Given the description of an element on the screen output the (x, y) to click on. 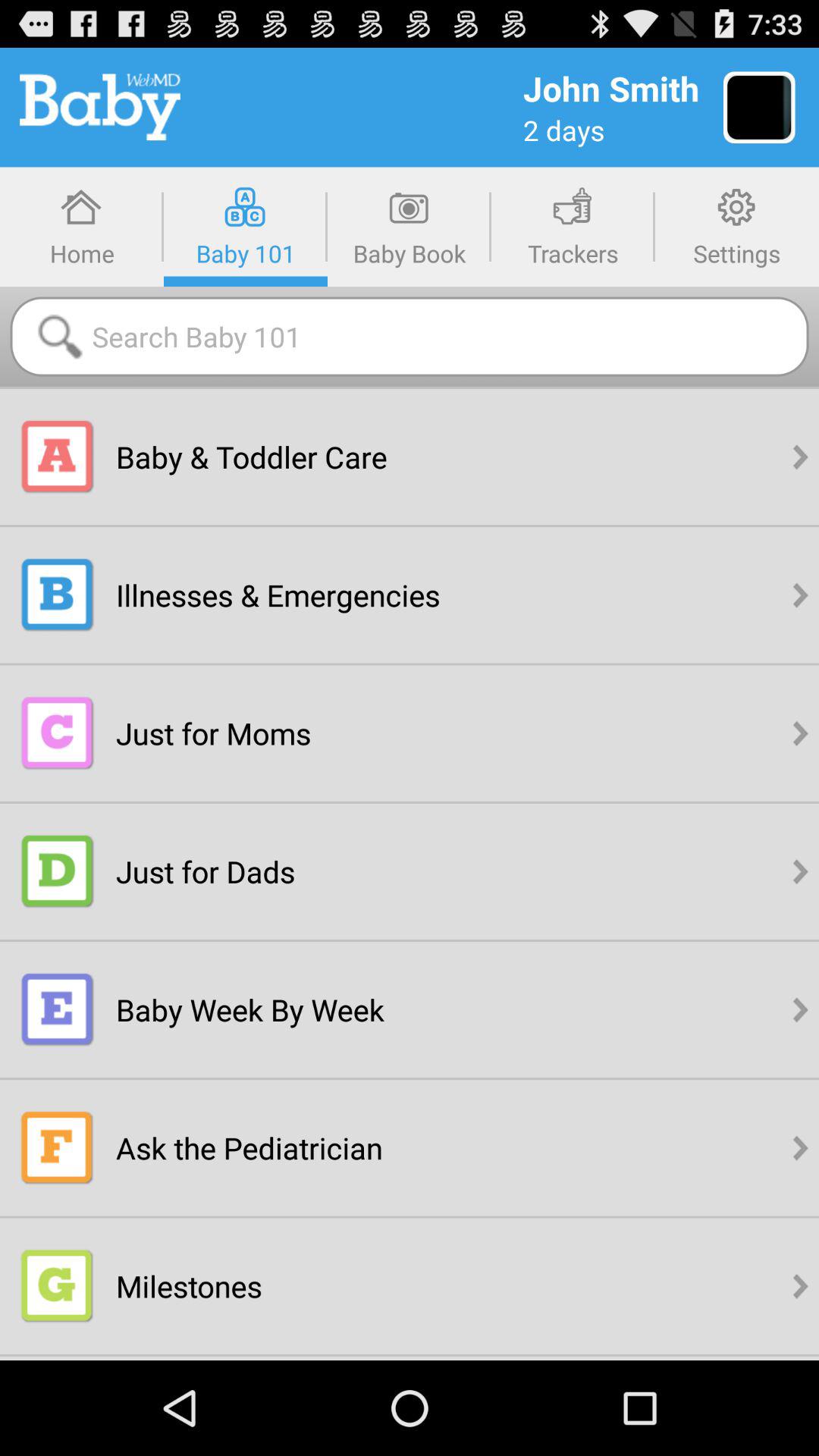
select the illness  emergency logo (57, 595)
click on the option g that says milestones (57, 1285)
click on c which is just beside the just for moms (57, 733)
click on the right faced arrow present in option b (801, 594)
click on the right arrow present in the forth option (801, 871)
select the right scroll bar which is right to the milestones (801, 1285)
tap the a icon (57, 457)
